Given the description of an element on the screen output the (x, y) to click on. 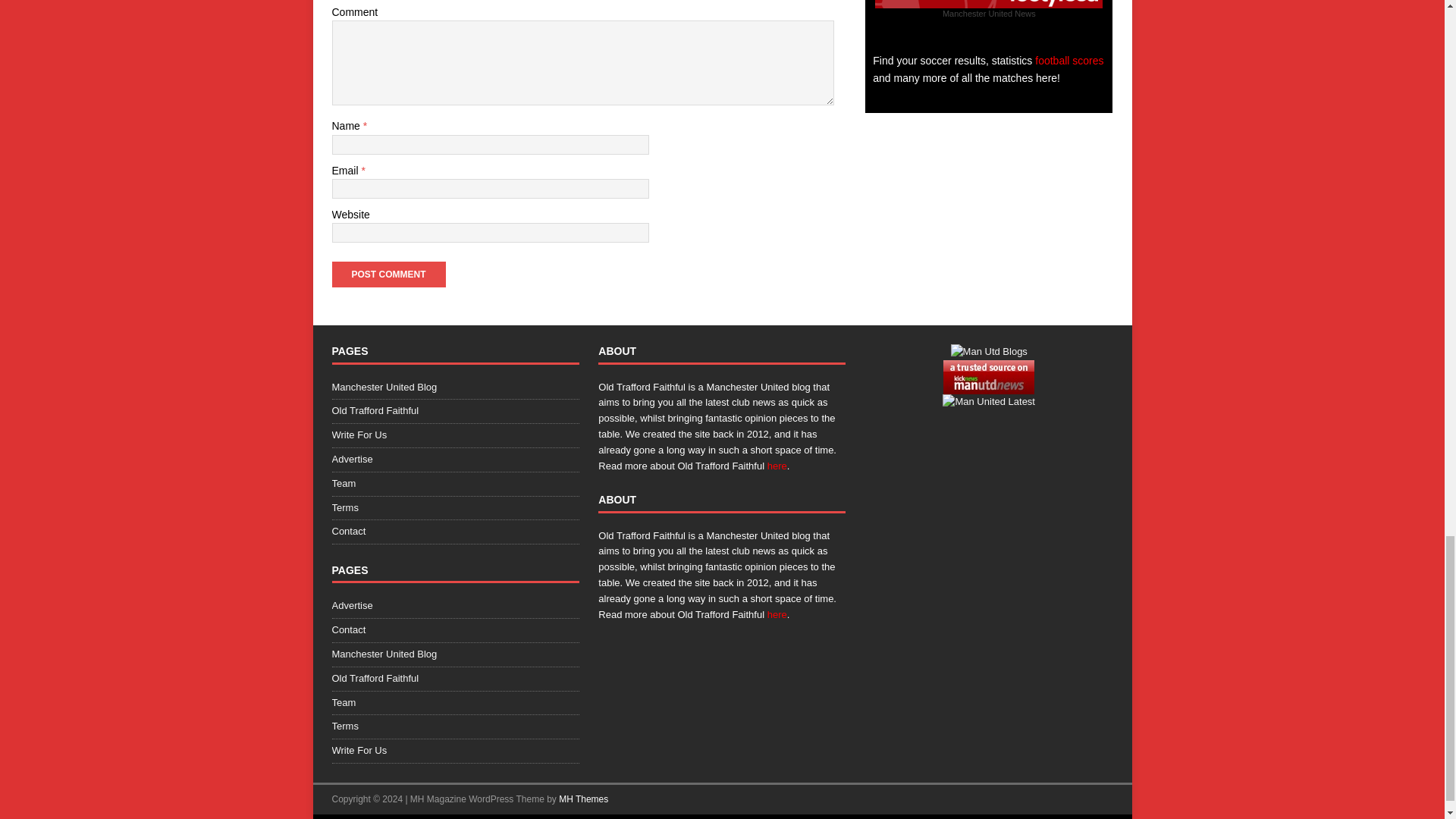
Post Comment (388, 274)
